Given the description of an element on the screen output the (x, y) to click on. 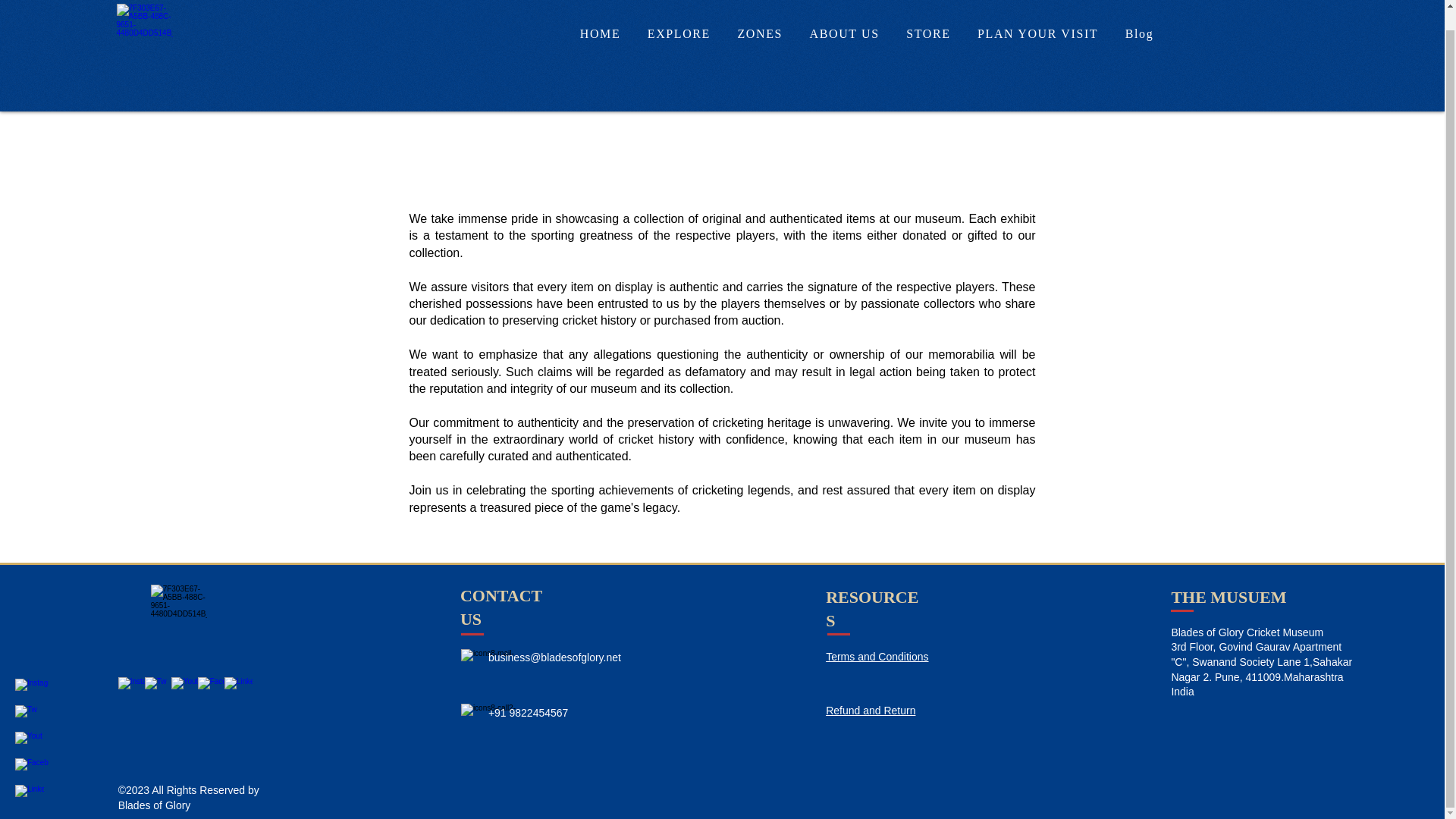
STORE (927, 14)
Terms and Conditions (876, 656)
Blog (1139, 14)
Refund and Return (870, 710)
HOME (599, 14)
PLAN YOUR VISIT (1037, 14)
